Given the description of an element on the screen output the (x, y) to click on. 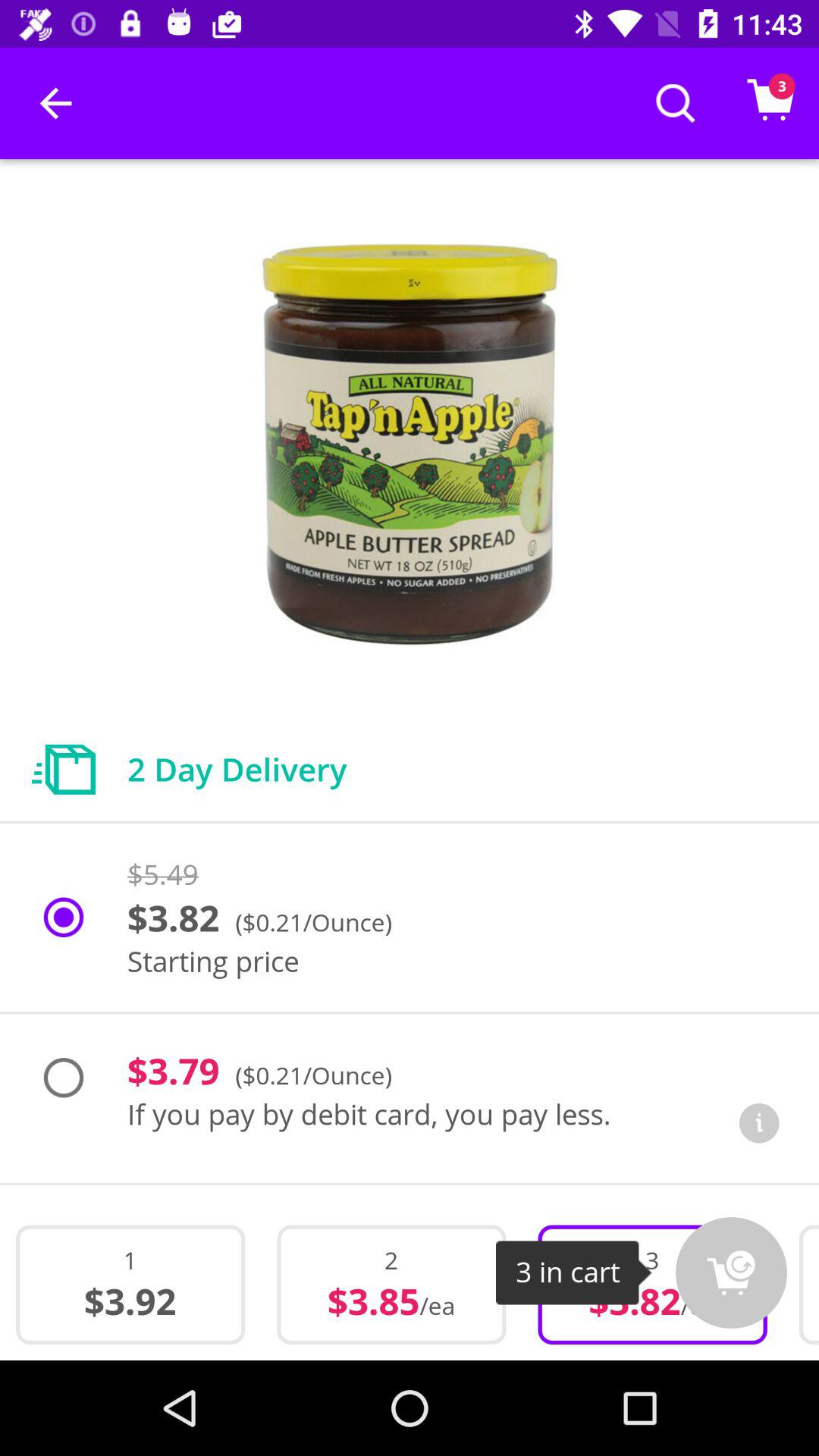
select the item next to if you pay icon (759, 1123)
